Given the description of an element on the screen output the (x, y) to click on. 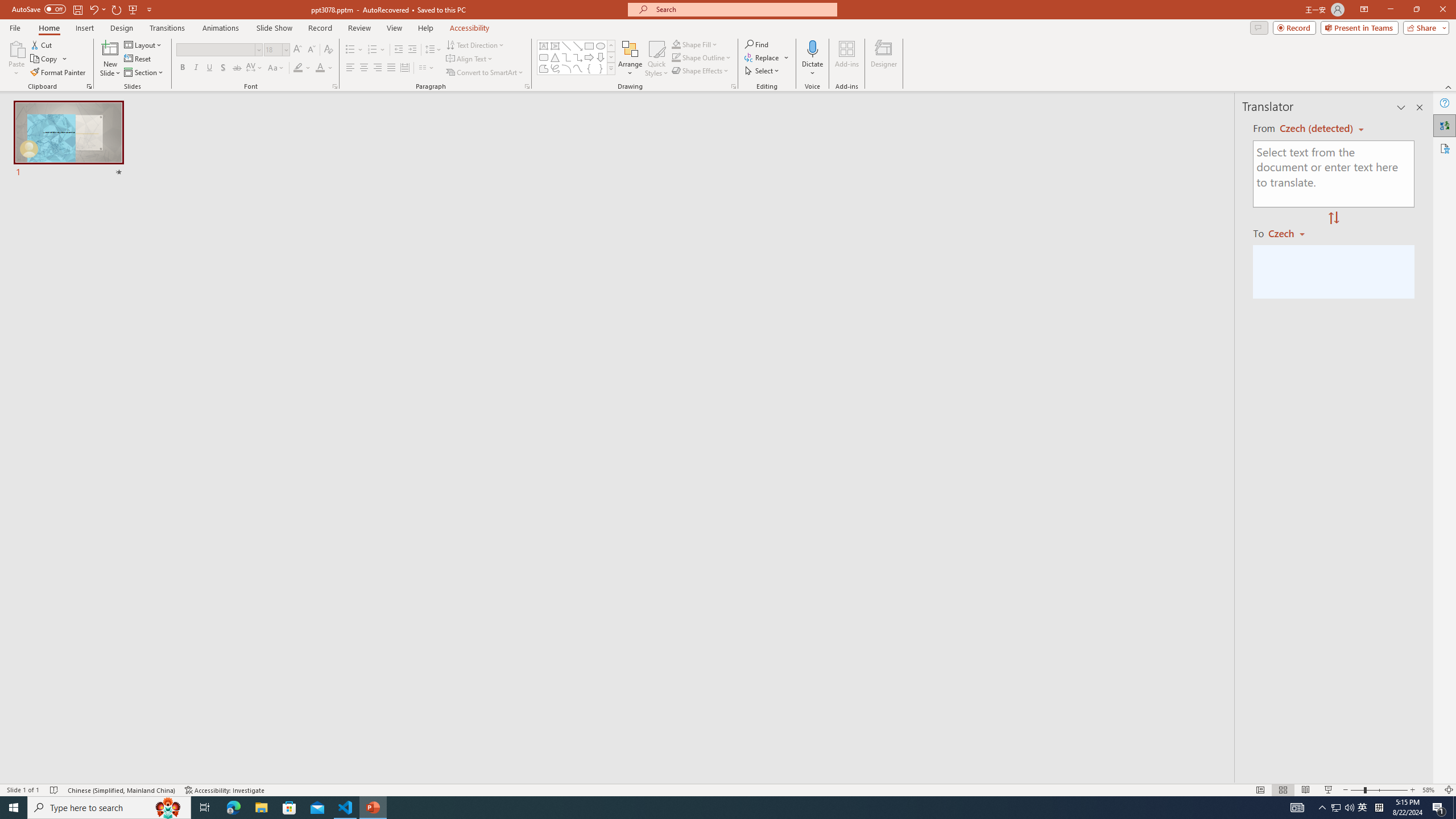
Terminal (Ctrl+`) (579, 533)
icon (1064, 114)
Earth - Wikipedia (23, 415)
